Given the description of an element on the screen output the (x, y) to click on. 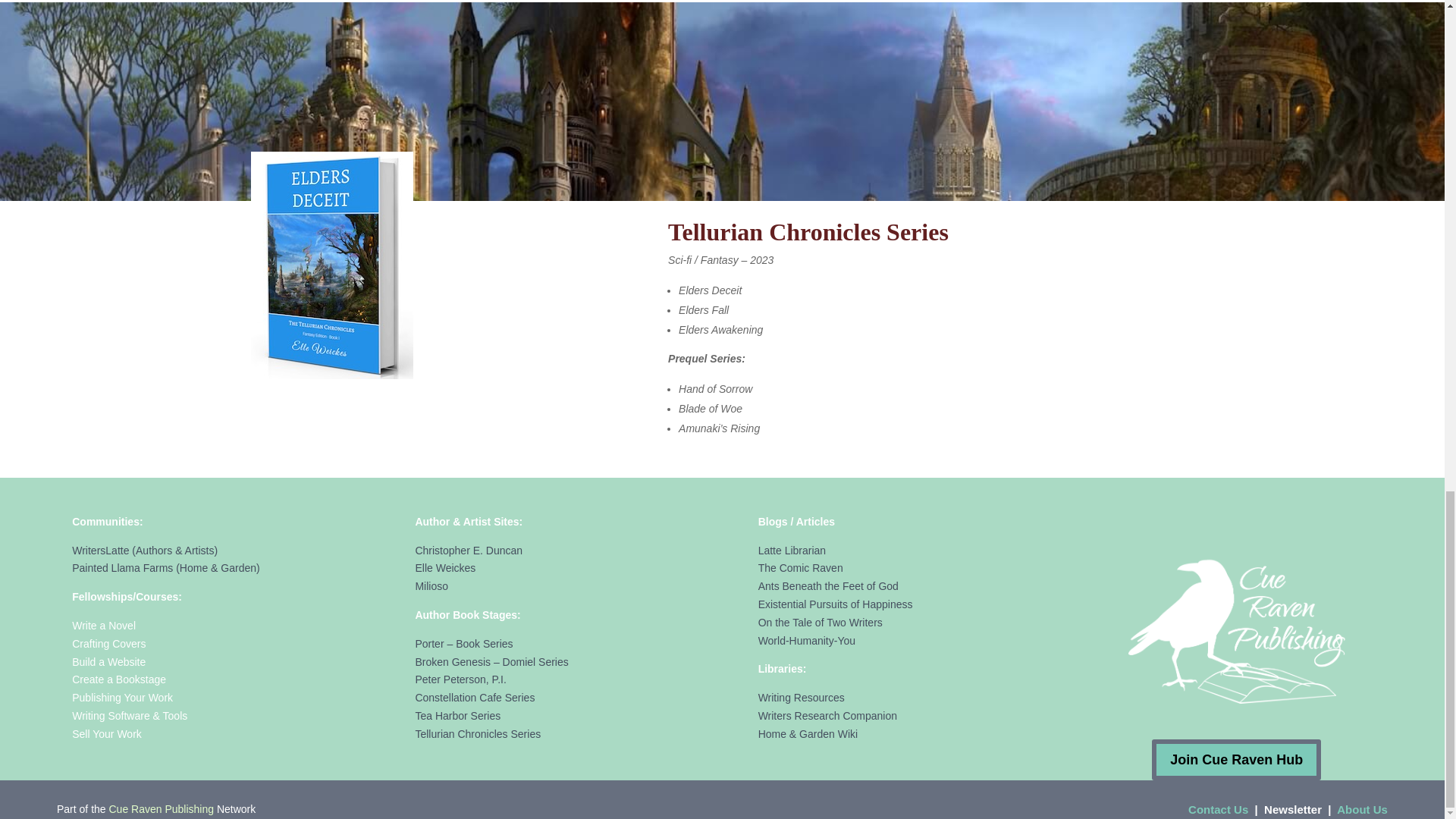
Writing Resources (801, 697)
Constellation Cafe Series (474, 697)
On the Tale of Two Writers (820, 622)
Cue Raven Publishing Network (1236, 629)
Ants Beneath the Feet of God (828, 585)
Tea Harbor Series (457, 715)
The Comic Raven (800, 567)
Milioso (431, 585)
Peter Peterson, P.I. (459, 679)
Latte Librarian (792, 550)
World-Humanity-You (807, 640)
Elle Weickes (445, 567)
Tellurian Chronicles Series (477, 734)
Christopher E. Duncan (468, 550)
Existential Pursuits of Happiness (835, 604)
